Given the description of an element on the screen output the (x, y) to click on. 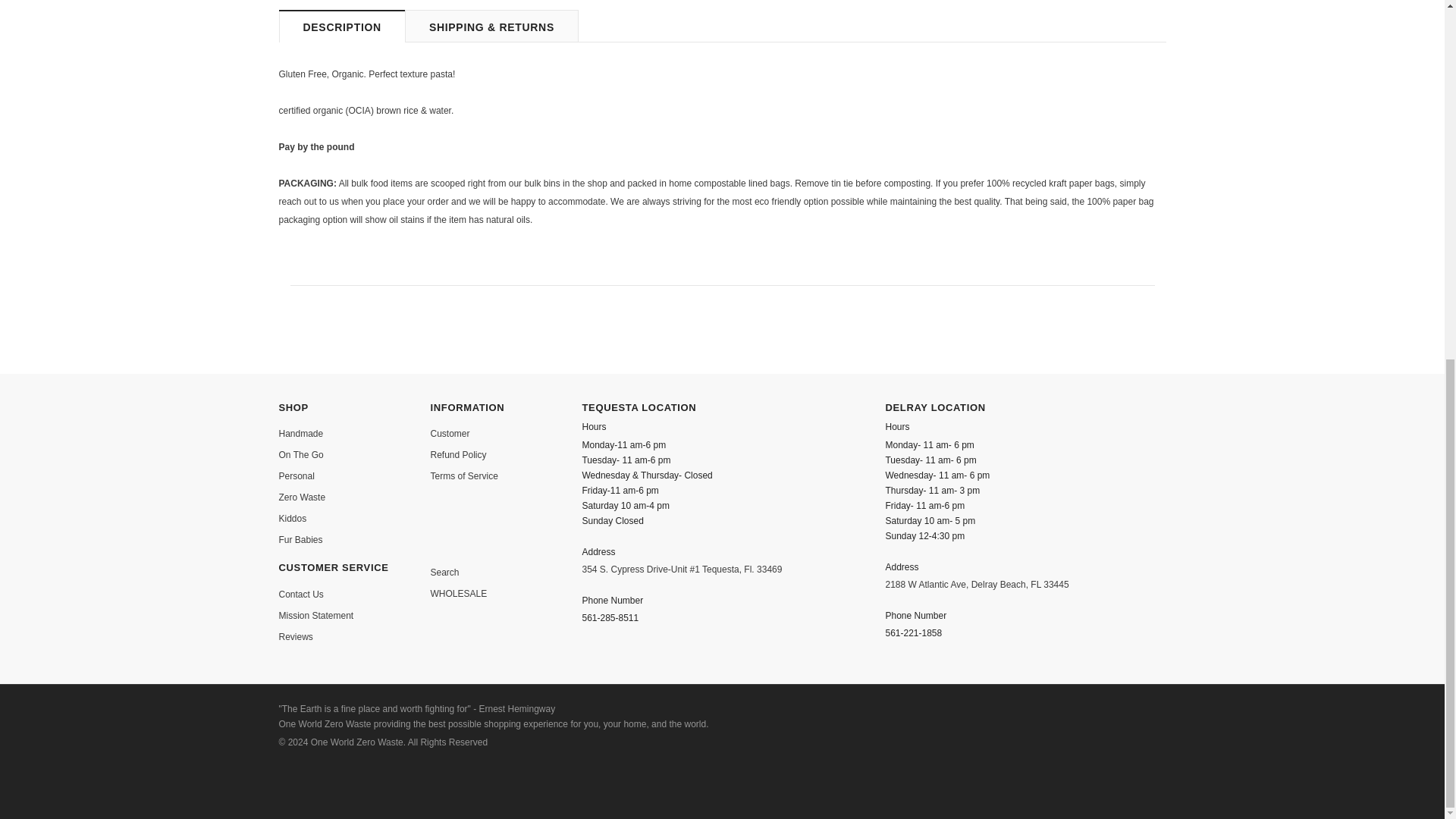
Personal (296, 476)
Handmade (301, 433)
On The Go (301, 455)
Zero Waste (302, 496)
